Given the description of an element on the screen output the (x, y) to click on. 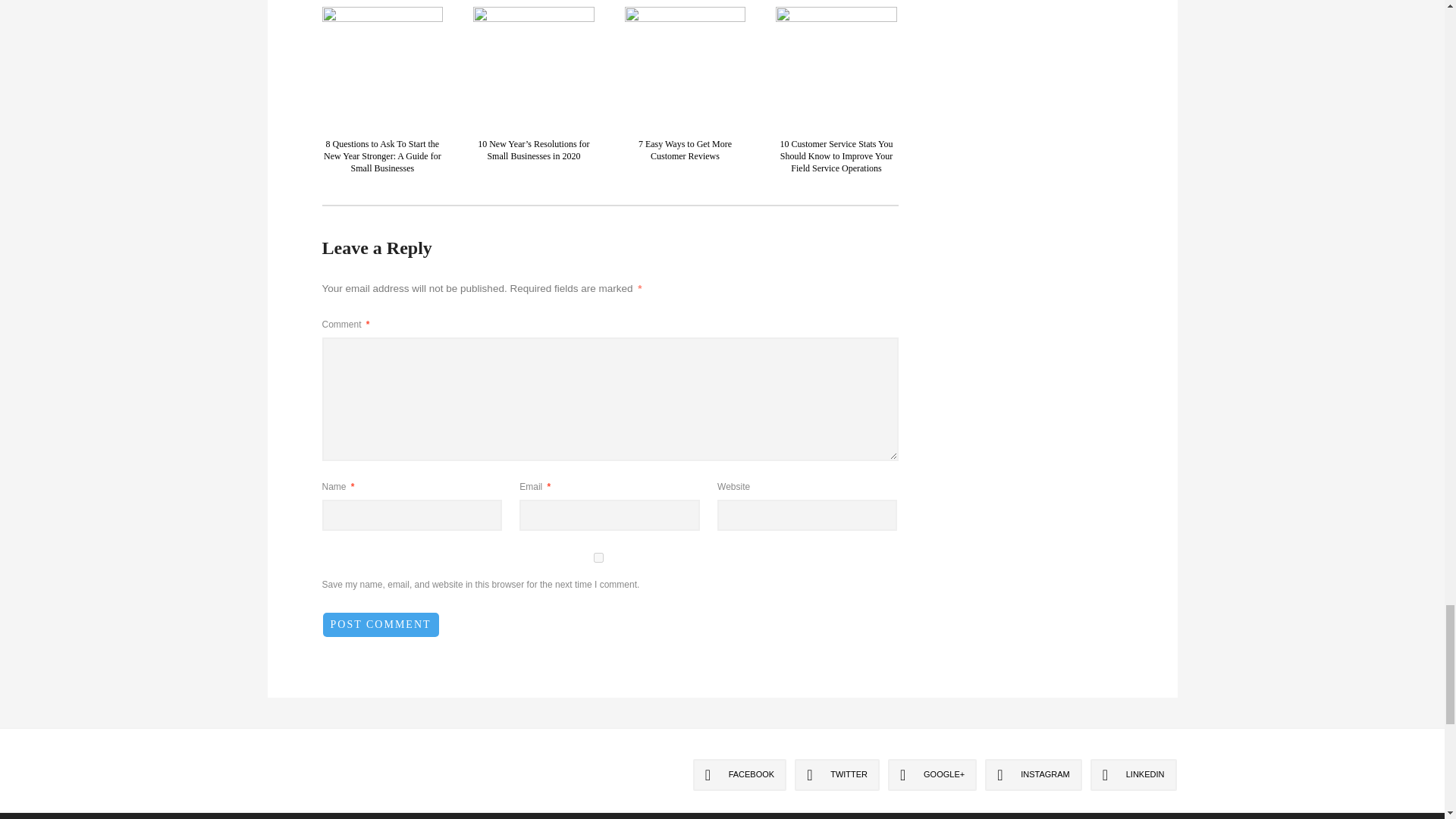
7 Easy Ways to Get More Customer Reviews (684, 65)
LinkedIn (1133, 775)
Post Comment (381, 624)
yes (598, 557)
7 Easy Ways to Get More Customer Reviews (685, 149)
Instagram (1033, 775)
Twitter (836, 775)
Facebook (740, 775)
